Given the description of an element on the screen output the (x, y) to click on. 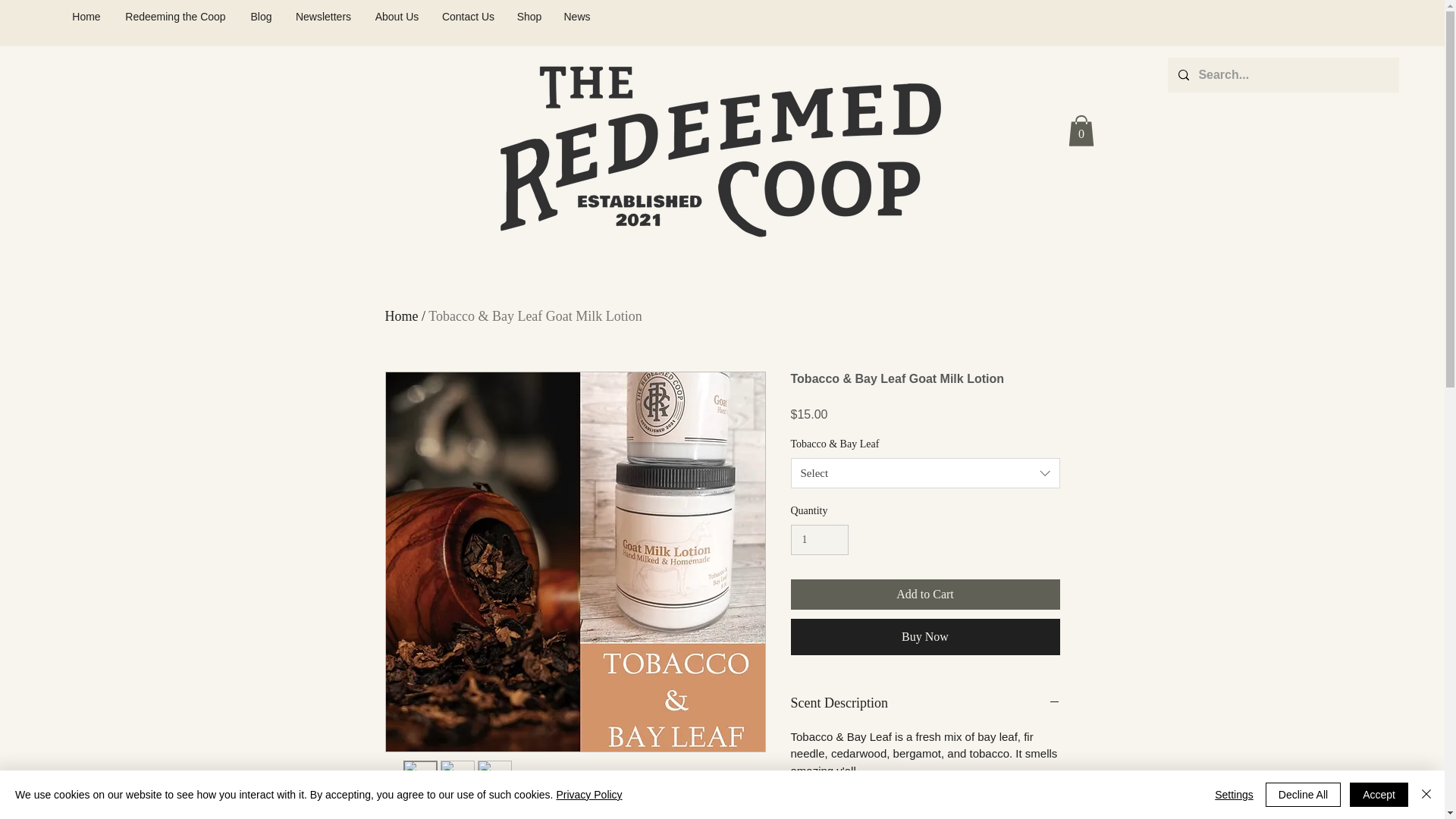
Scent Description (924, 703)
Home (402, 315)
Select (924, 472)
Decline All (1302, 794)
Buy Now (924, 637)
About Us (396, 15)
Home (86, 15)
Newsletters (322, 15)
Add to Cart (924, 594)
1 (818, 540)
Privacy Policy (588, 794)
Blog (260, 15)
Accept (1378, 794)
Contact Us (467, 15)
